Given the description of an element on the screen output the (x, y) to click on. 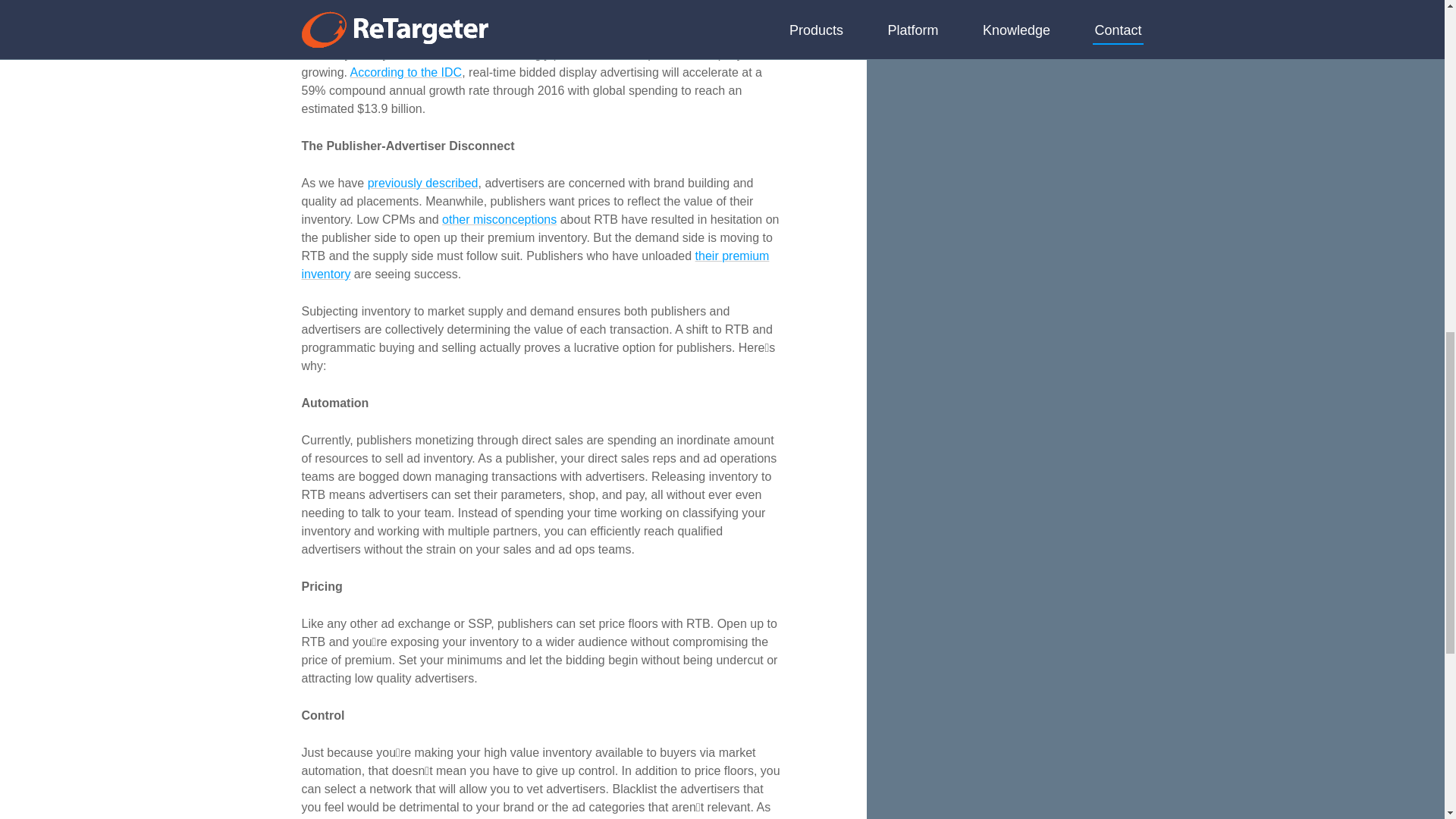
previously described (423, 182)
their premium inventory (535, 264)
According to the IDC (406, 72)
other misconceptions (499, 219)
